Given the description of an element on the screen output the (x, y) to click on. 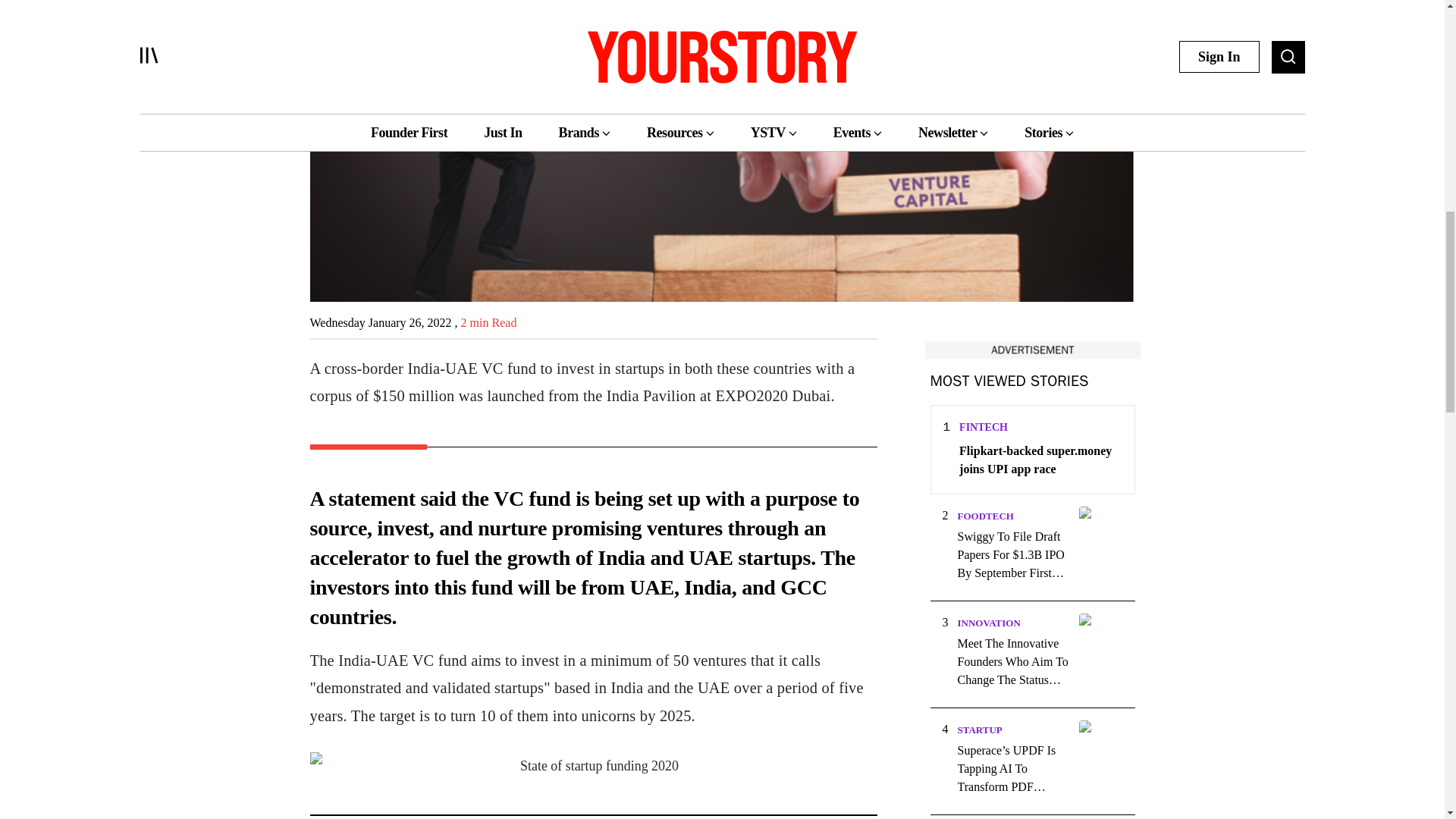
Flipkart-backed super.money joins UPI app race (1040, 460)
FINTECH (983, 427)
FOODTECH (984, 515)
Advertise with us (1032, 349)
INNOVATION (988, 622)
STARTUP (978, 729)
